Given the description of an element on the screen output the (x, y) to click on. 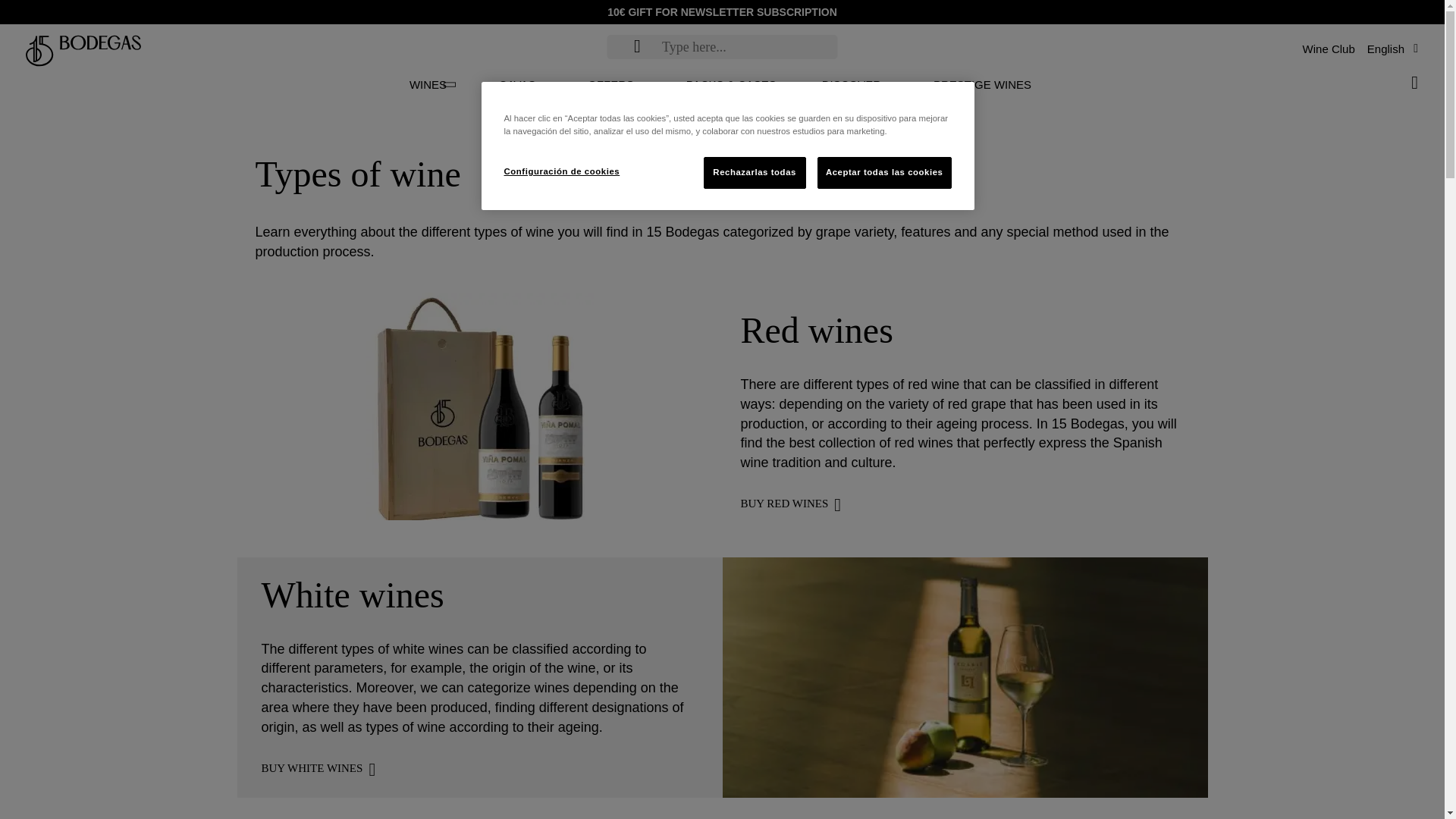
pack-vina-pomal-reserve-and-crianza-wine (478, 406)
WINES (427, 84)
Type here... (637, 46)
pack-vina-pomal-reserve-and-crianza-wine (478, 515)
Wine Club (1329, 48)
